Given the description of an element on the screen output the (x, y) to click on. 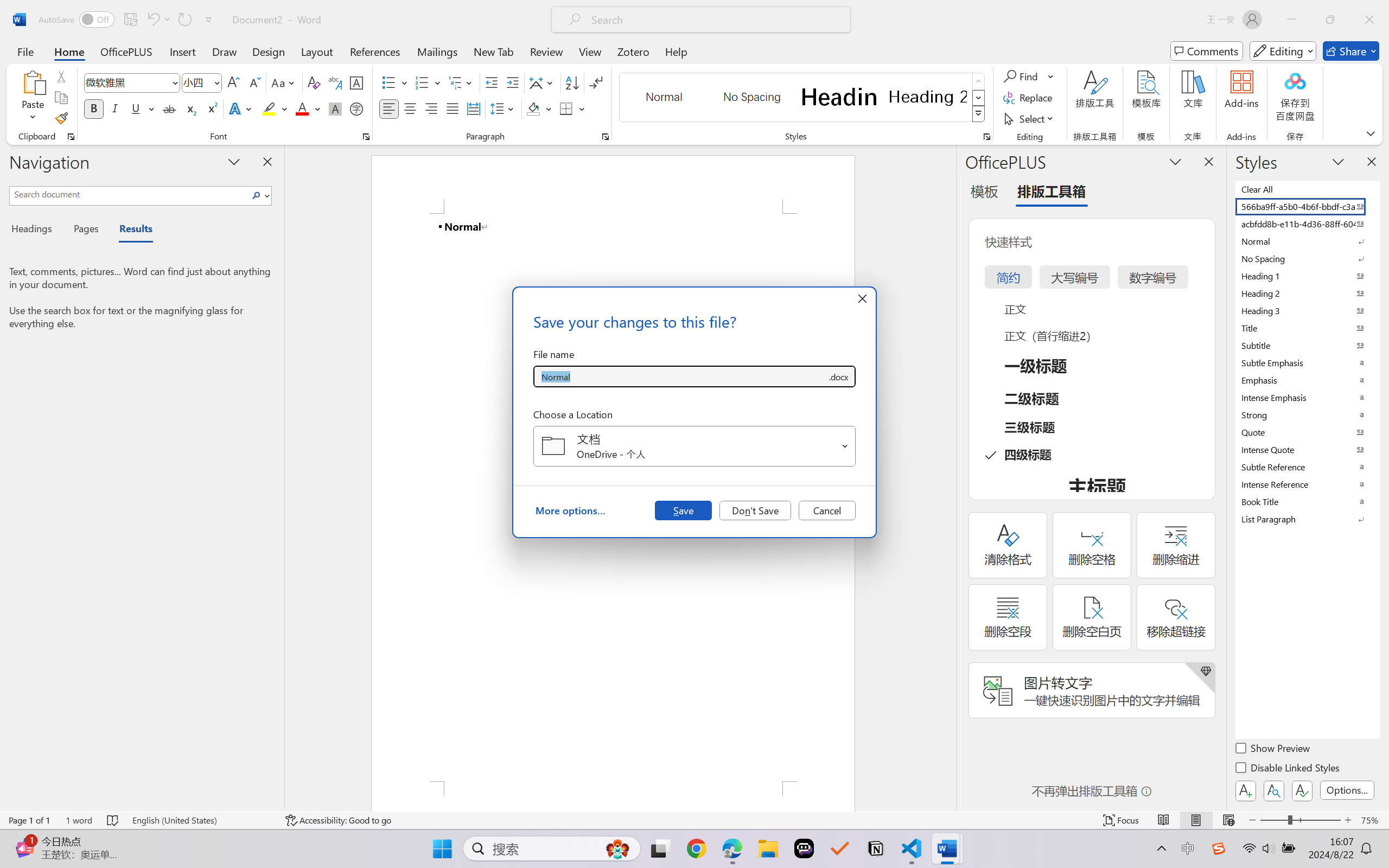
Shading RGB(0, 0, 0) (533, 108)
Page Number Page 1 of 1 (29, 819)
Save (682, 509)
Find (1022, 75)
Increase Indent (512, 82)
Font Size (201, 82)
Show/Hide Editing Marks (595, 82)
Bullets (388, 82)
Phonetic Guide... (334, 82)
Undo Text Fill Effect (152, 19)
Task Pane Options (1175, 161)
